Given the description of an element on the screen output the (x, y) to click on. 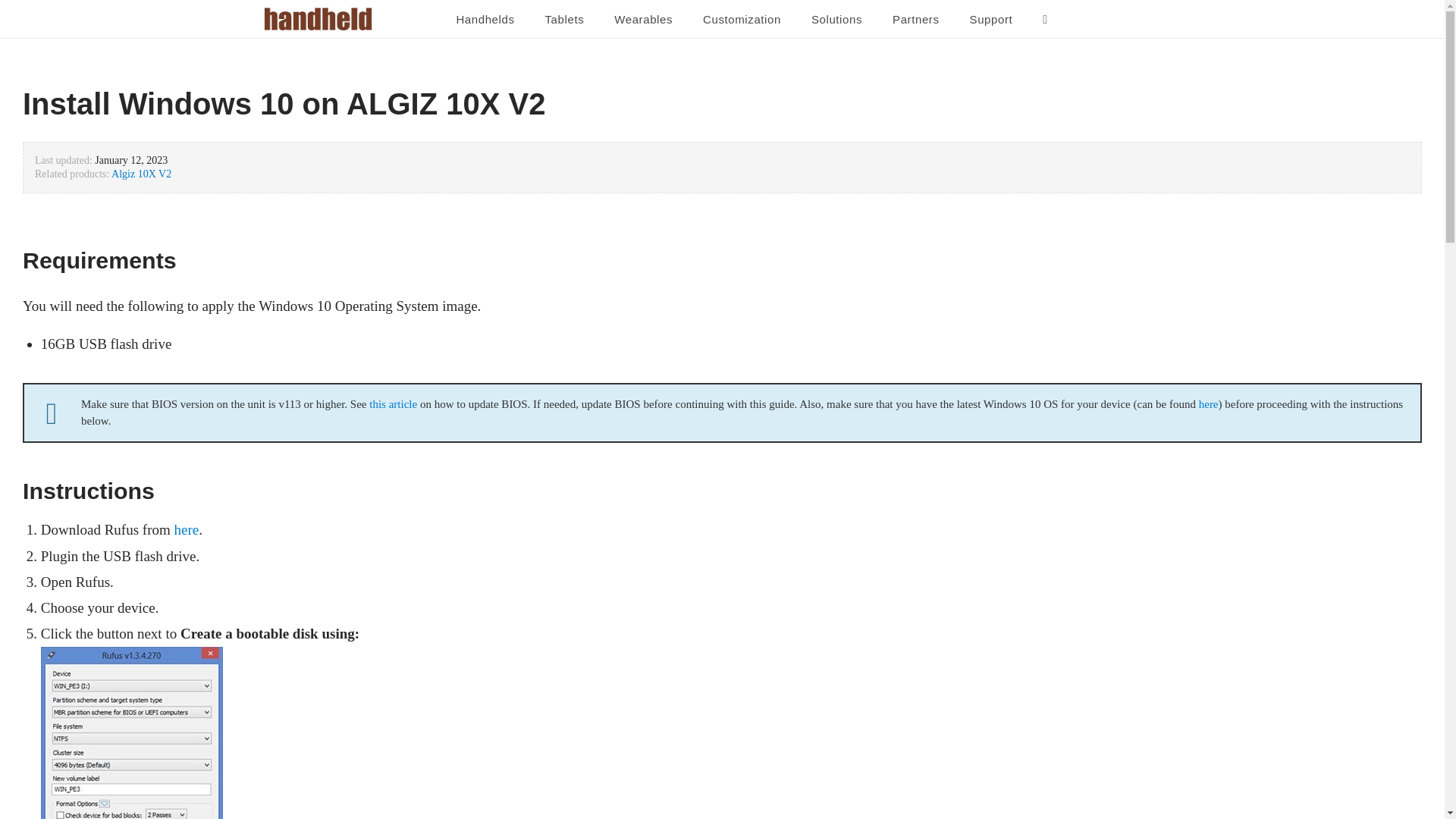
Partners (916, 19)
Algiz 10X V2 (141, 173)
Tablets (564, 19)
Handhelds (485, 19)
Wearables (642, 19)
Support (991, 19)
Customization (741, 19)
Solutions (836, 19)
KB9985 (394, 404)
this article (394, 404)
